Given the description of an element on the screen output the (x, y) to click on. 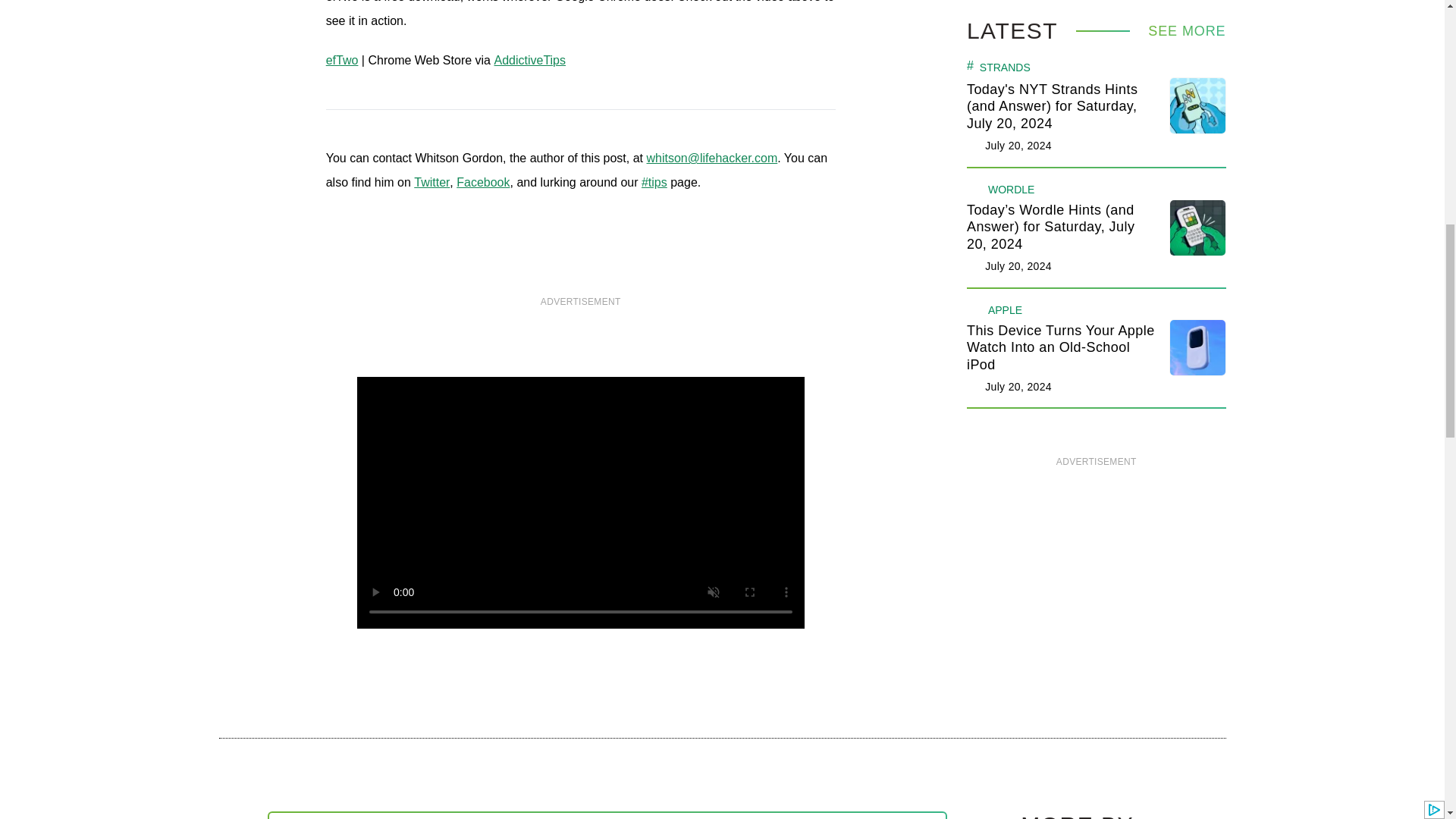
open in a new window (654, 182)
